Given the description of an element on the screen output the (x, y) to click on. 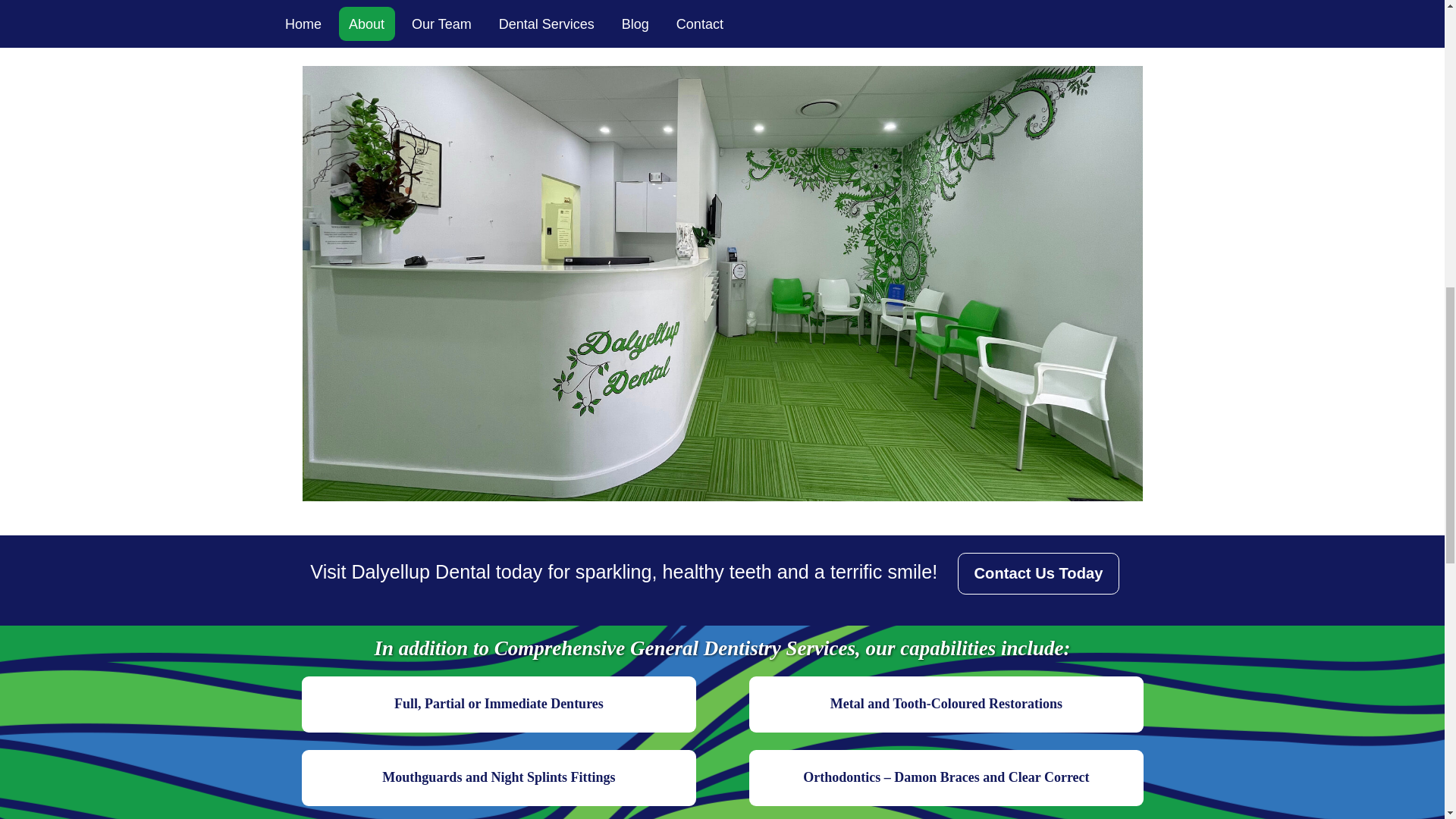
Mouthguards and Night Splints Fittings (498, 777)
dental services for the entire family (617, 2)
Full, Partial or Immediate Dentures (498, 704)
Metal and Tooth-Coloured Restorations (945, 704)
Contact Us Today (1038, 573)
